Given the description of an element on the screen output the (x, y) to click on. 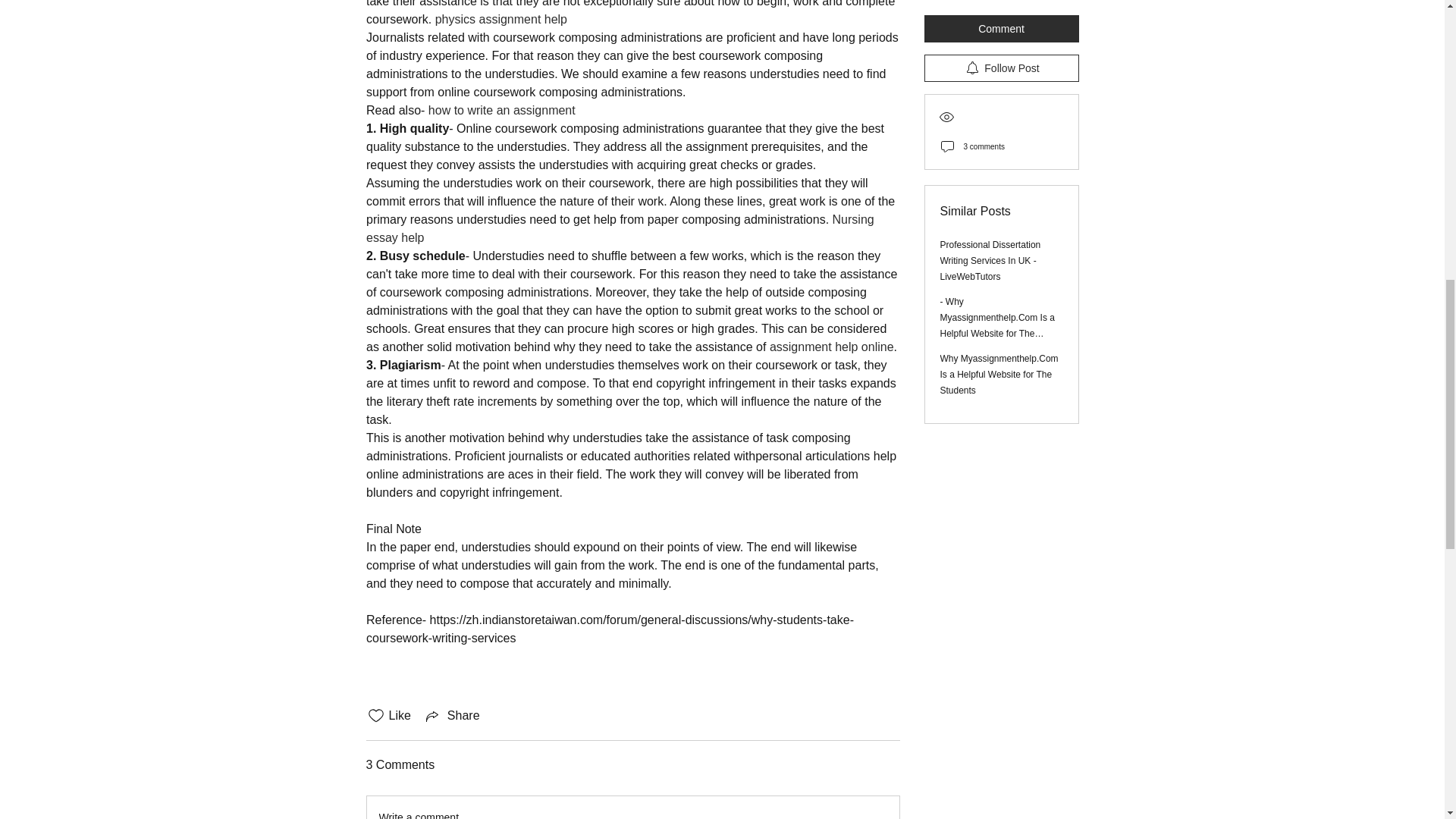
assignment help online (830, 346)
Nursing essay help (620, 228)
Share (451, 715)
how to write an assignment (501, 110)
physics assignment help (499, 19)
Write a comment... (632, 807)
